Given the description of an element on the screen output the (x, y) to click on. 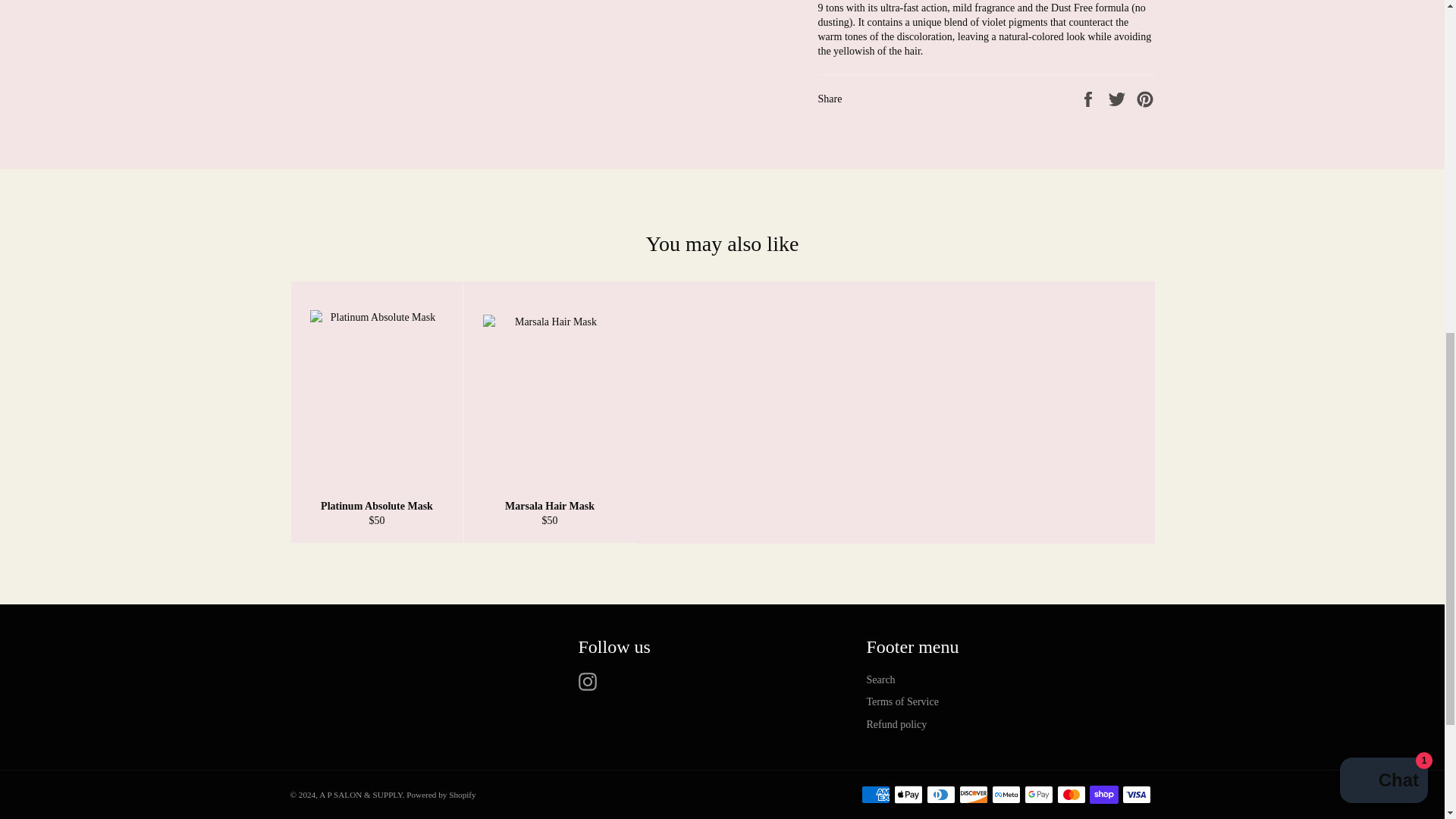
Pin on Pinterest (1144, 98)
Tweet on Twitter (1118, 98)
Powered by Shopify (441, 794)
Share on Facebook (1089, 98)
Terms of Service (901, 701)
Instagram (591, 681)
Tweet on Twitter (1118, 98)
Shopify online store chat (1383, 108)
Search (880, 679)
Pin on Pinterest (1144, 98)
Share on Facebook (1089, 98)
Refund policy (896, 724)
